Given the description of an element on the screen output the (x, y) to click on. 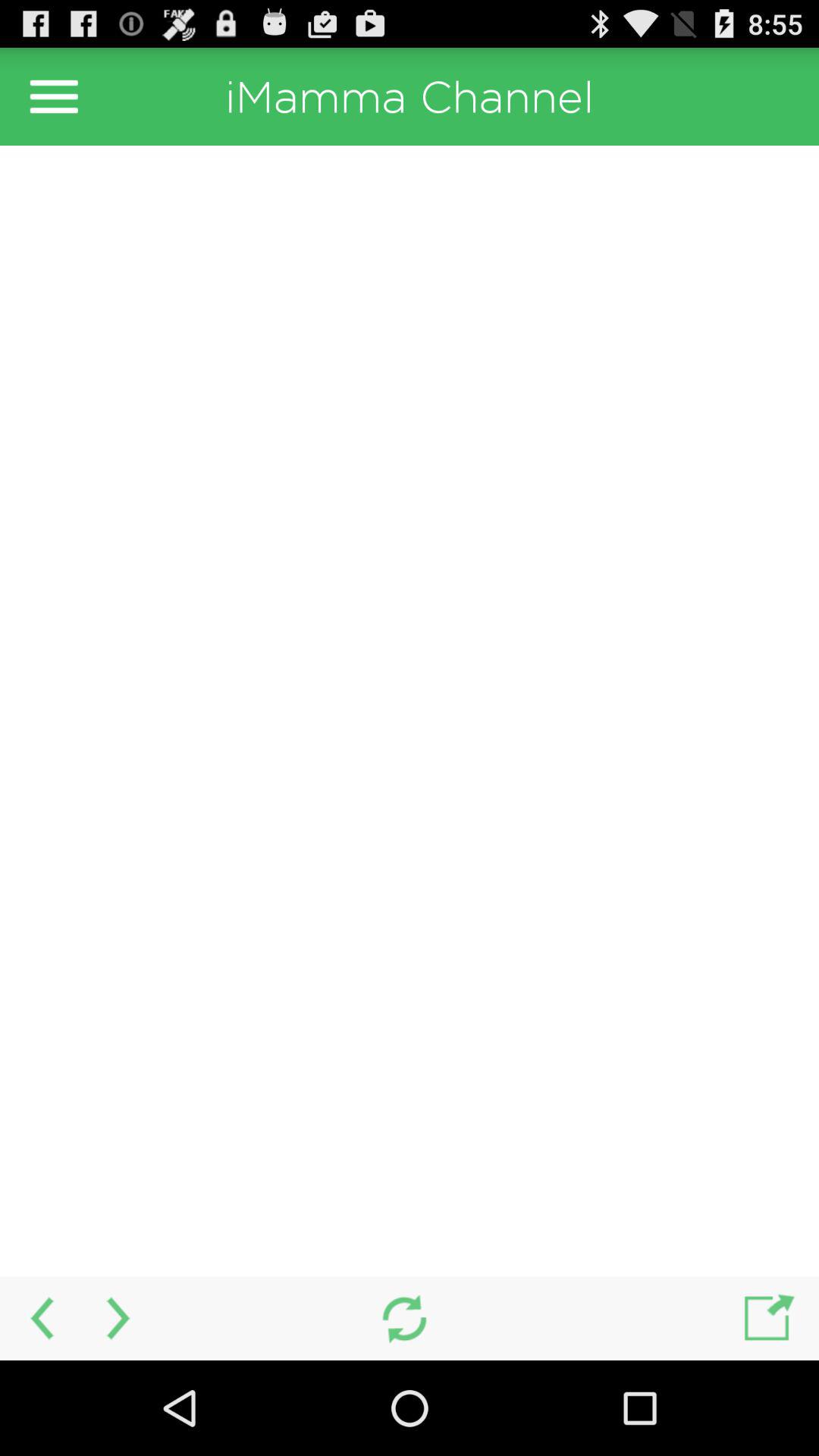
go back (40, 1318)
